Given the description of an element on the screen output the (x, y) to click on. 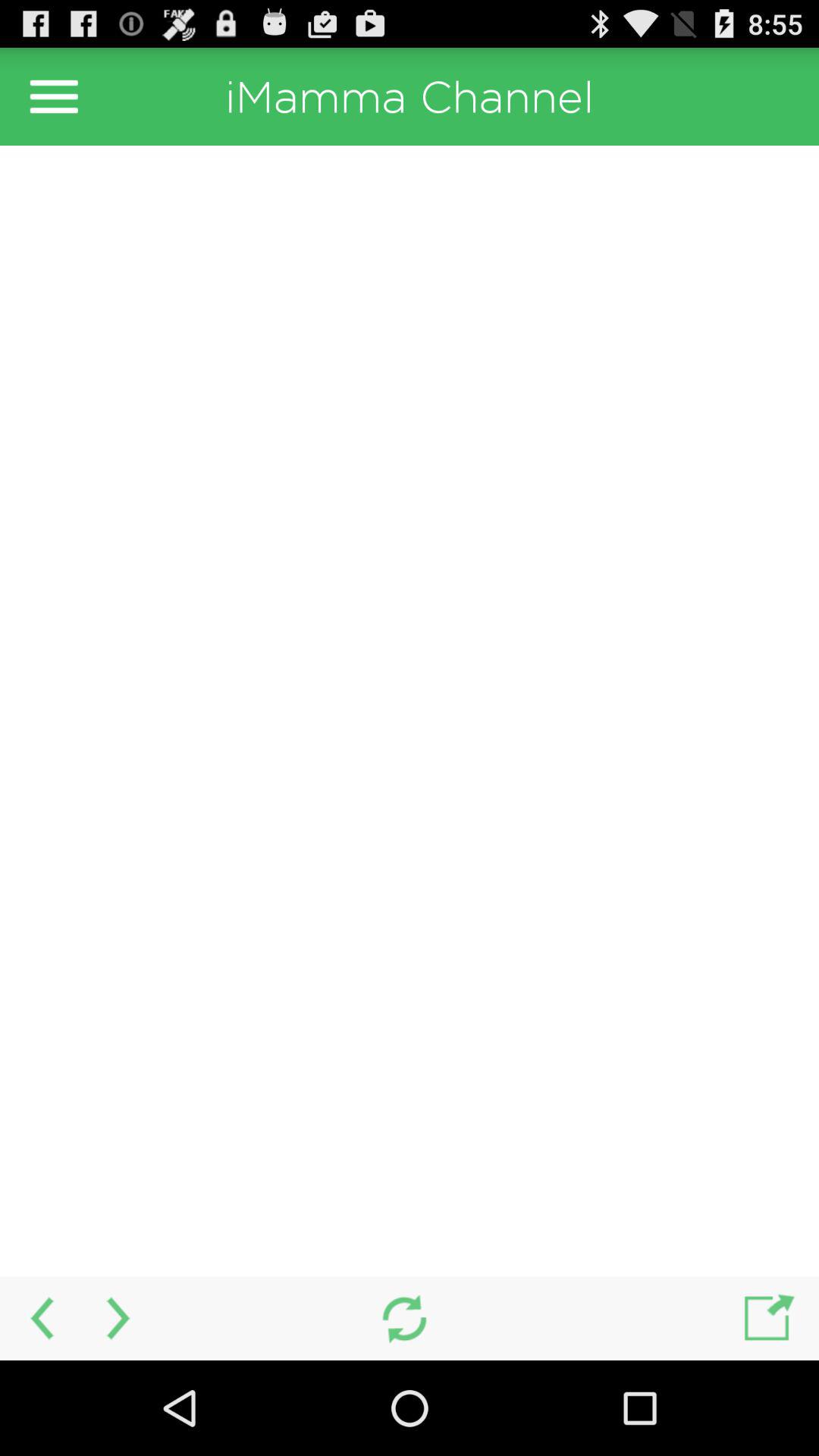
go back (40, 1318)
